Given the description of an element on the screen output the (x, y) to click on. 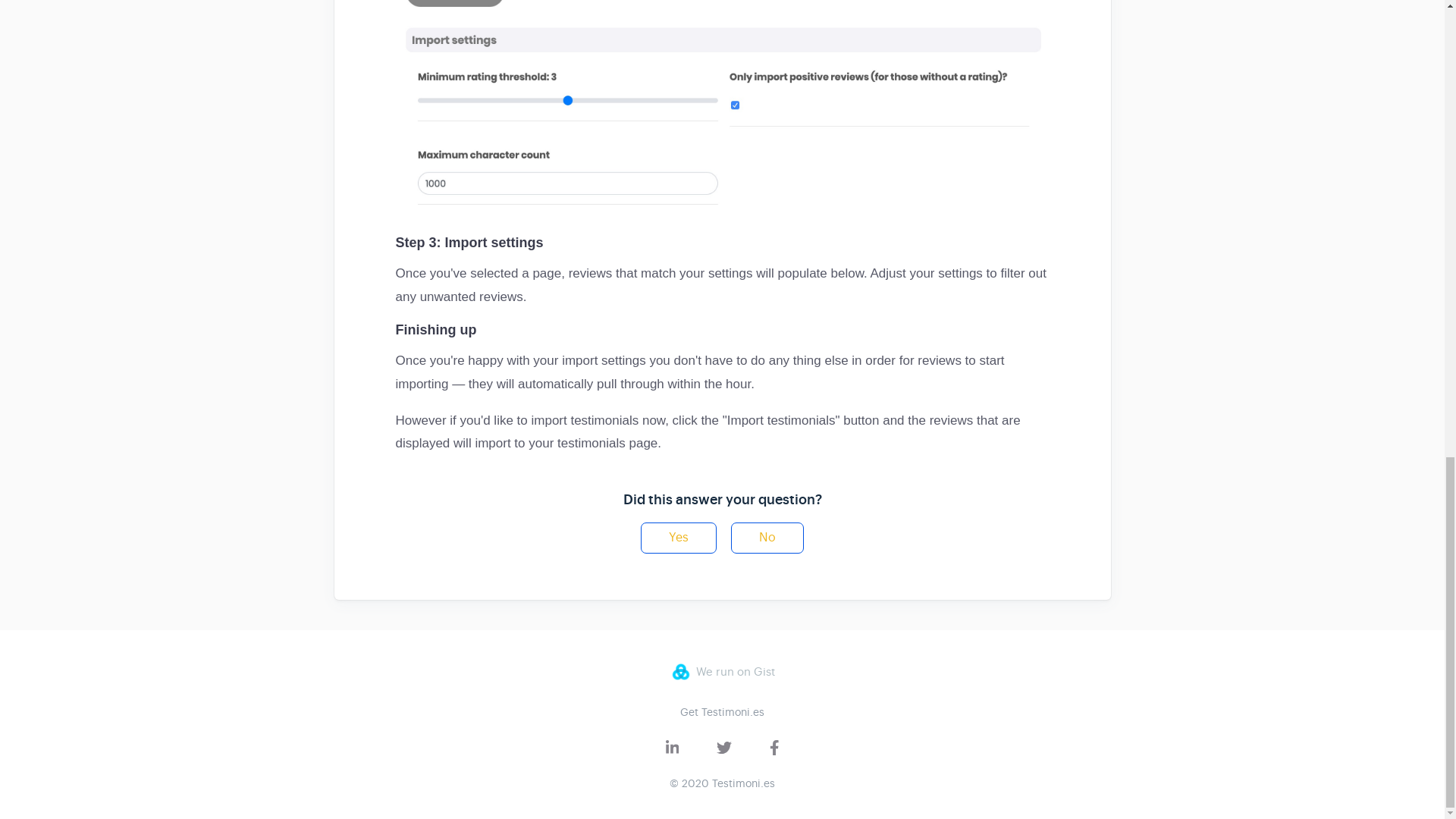
Yes (678, 537)
No (766, 537)
We run on Gist (721, 671)
Get Testimoni.es (721, 712)
